Given the description of an element on the screen output the (x, y) to click on. 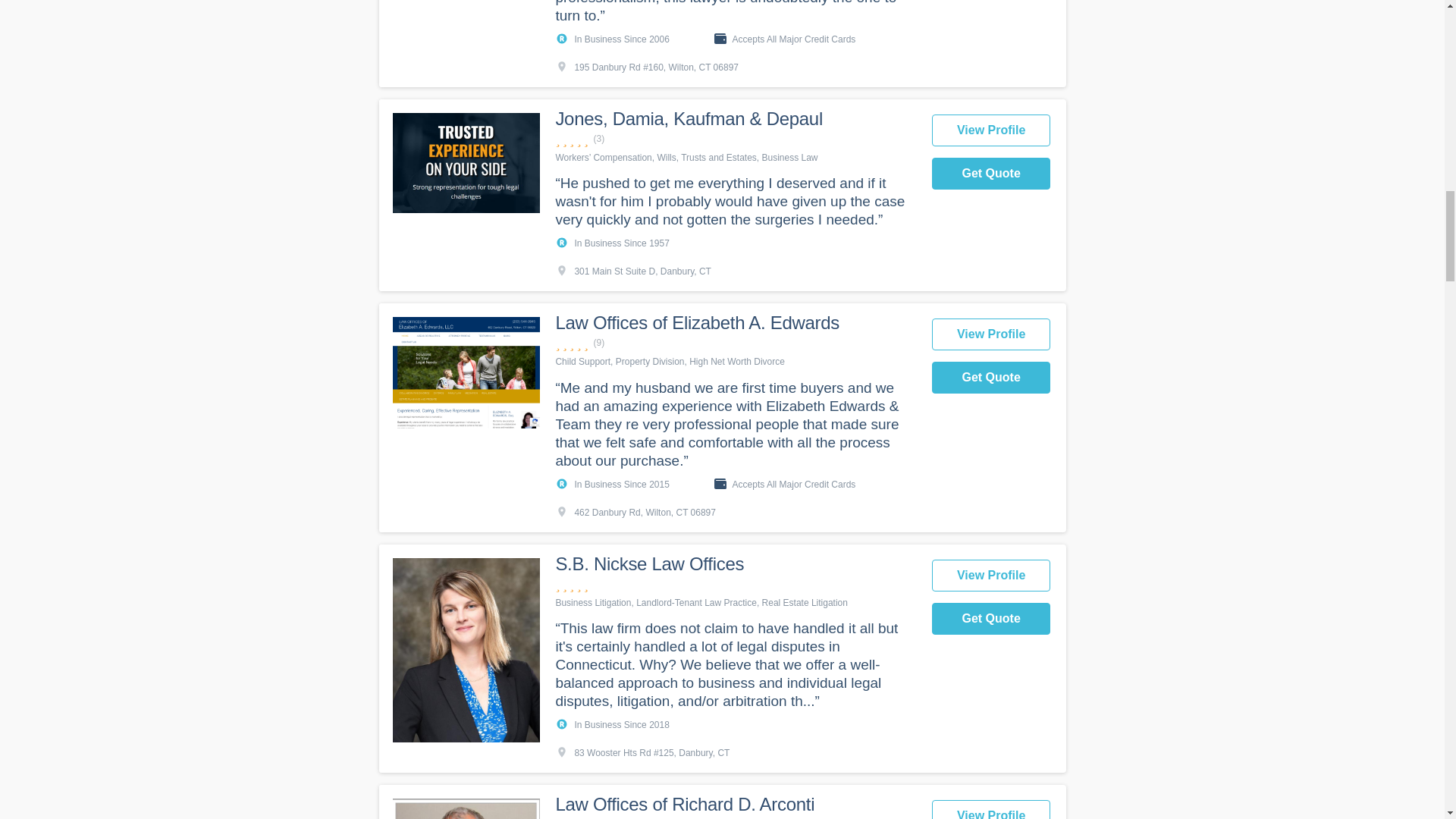
5.0 (734, 584)
5.0 (734, 138)
Get Quote (991, 173)
5.0 (734, 342)
